Given the description of an element on the screen output the (x, y) to click on. 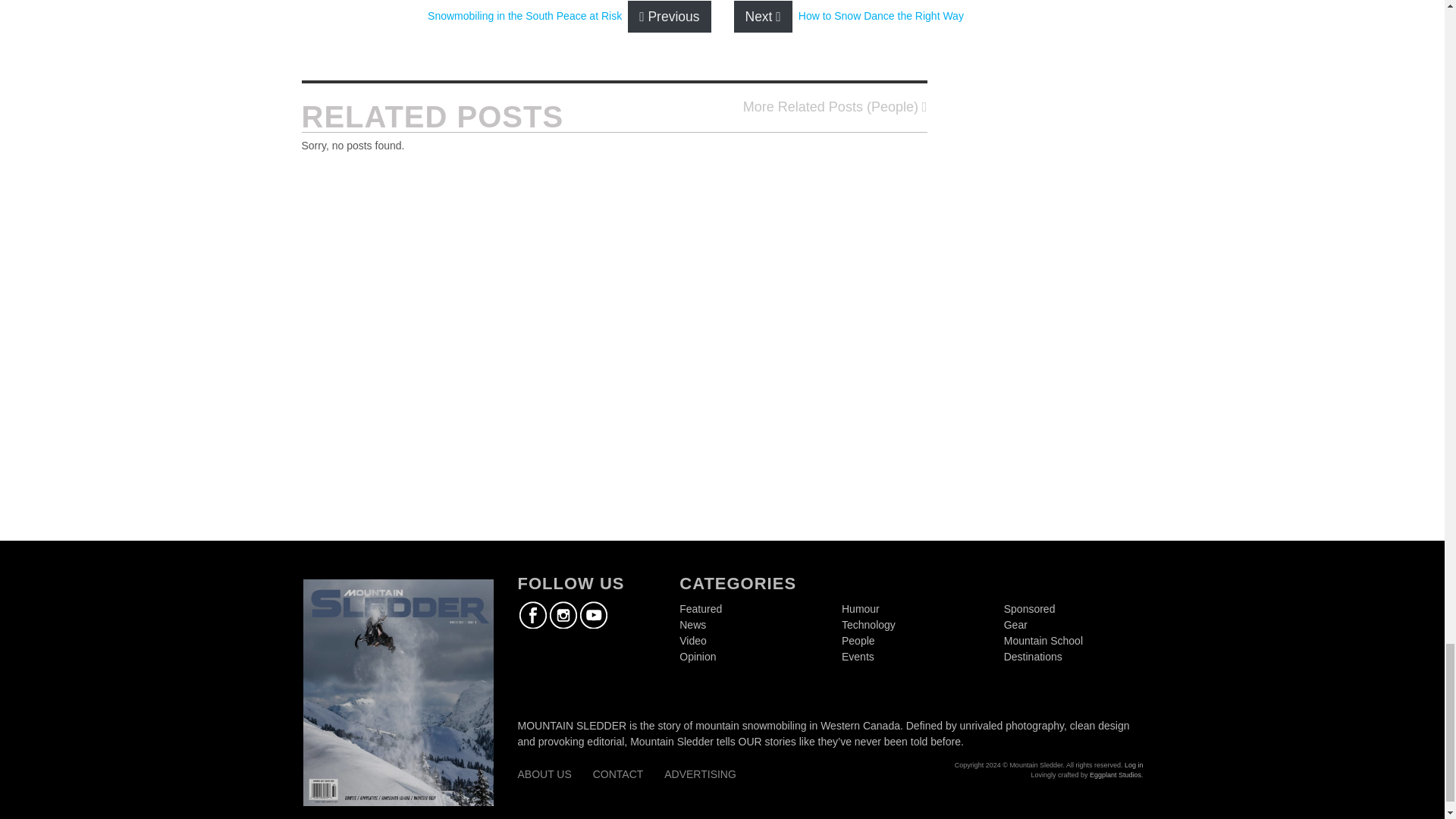
People (834, 107)
3rd party ad content (1062, 307)
Issue 18 - Published on December 1st, 2020 (398, 693)
Mountain Sledder on Instagram (562, 614)
3rd party ad content (613, 230)
Mountain Sledder on Youtube (593, 614)
Mountain Sledder on Facebook (532, 614)
